Given the description of an element on the screen output the (x, y) to click on. 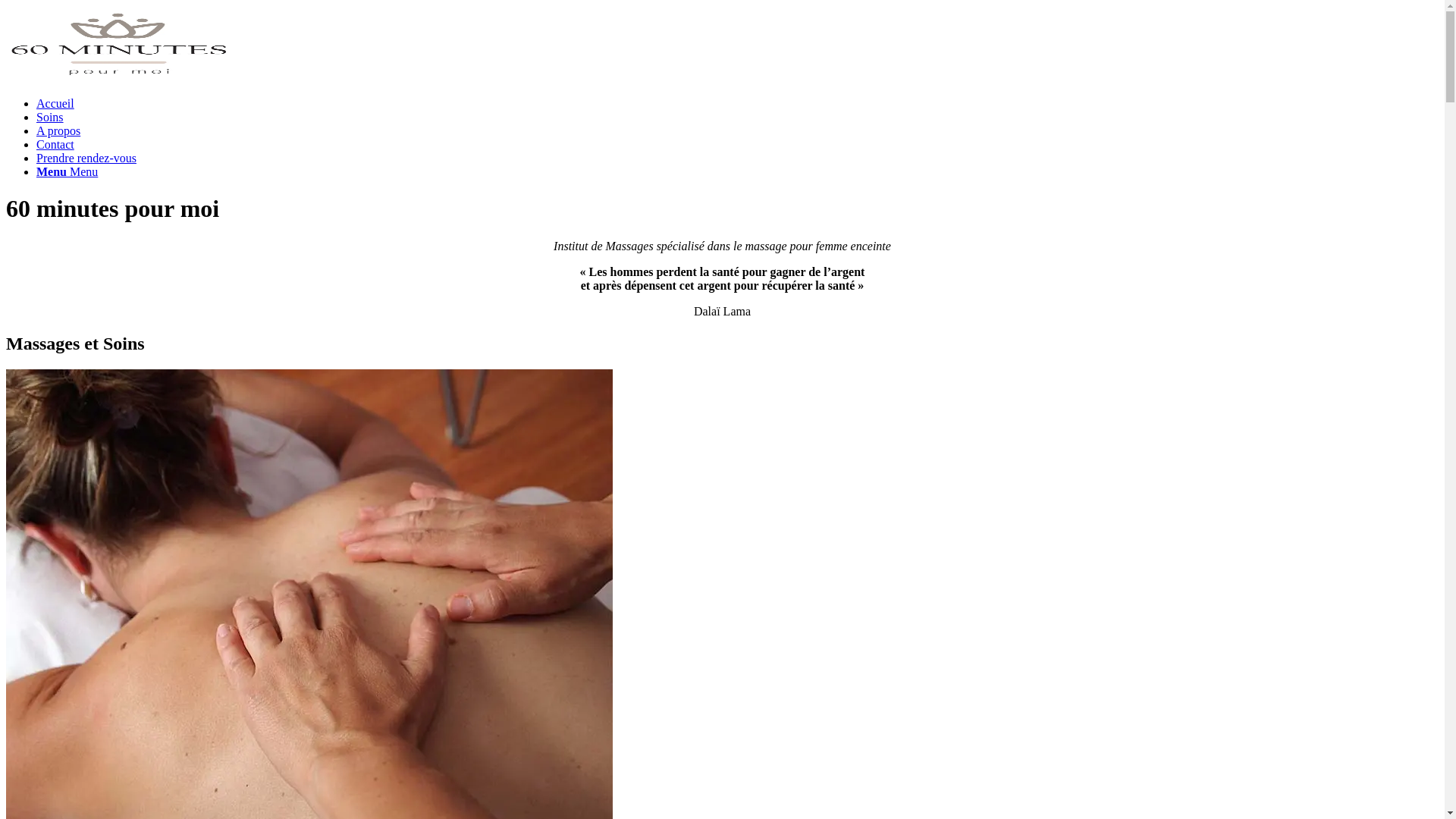
Menu Menu Element type: text (66, 171)
Contact Element type: text (55, 144)
Prendre rendez-vous Element type: text (86, 157)
Soins Element type: text (49, 116)
Logo 60 minutes pour moi Element type: hover (119, 43)
A propos Element type: text (58, 130)
Accueil Element type: text (55, 103)
